Given the description of an element on the screen output the (x, y) to click on. 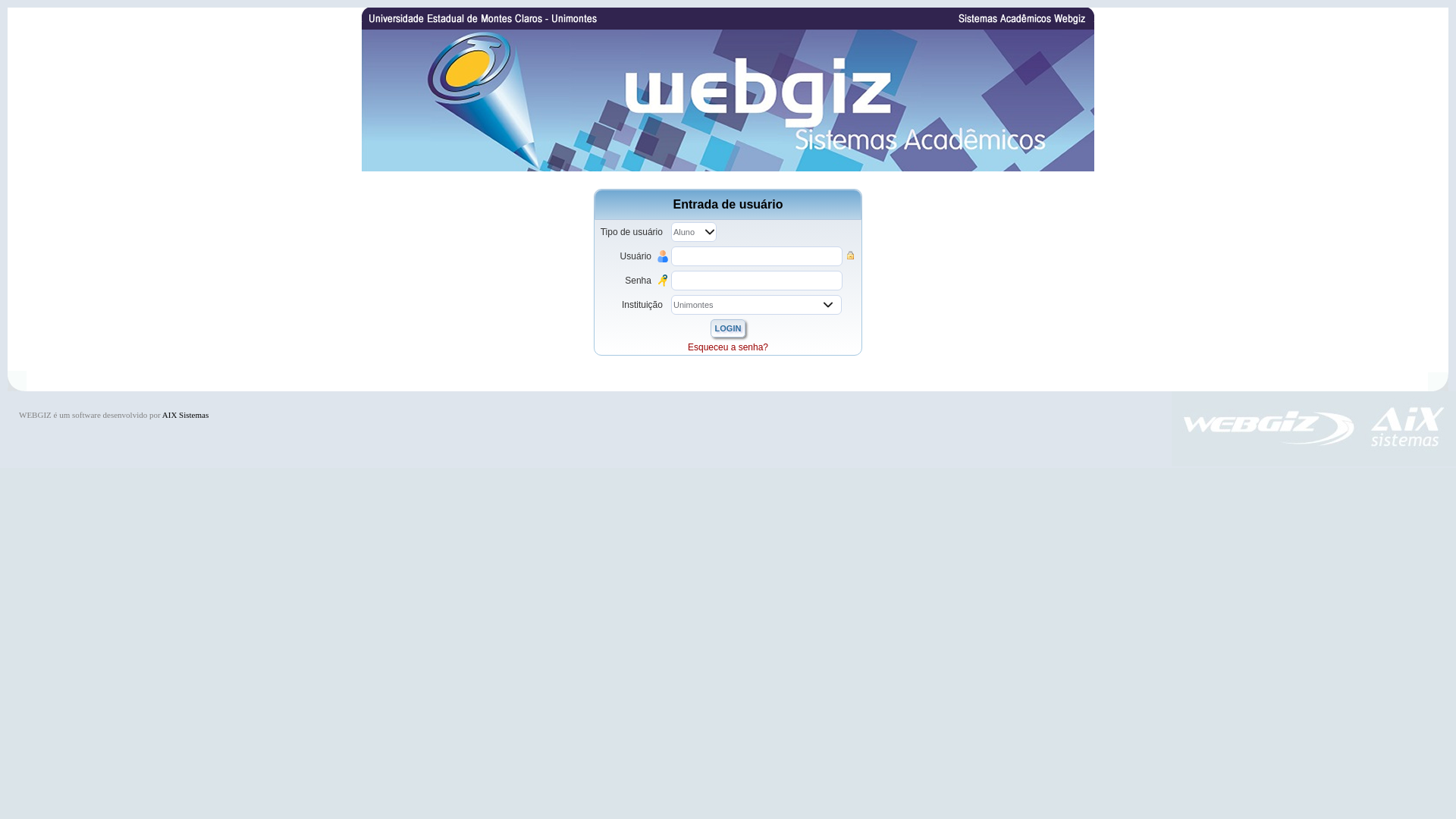
AIX Sistemas Element type: text (185, 414)
LOGIN Element type: text (728, 328)
Esqueceu a senha? Element type: text (727, 347)
